Given the description of an element on the screen output the (x, y) to click on. 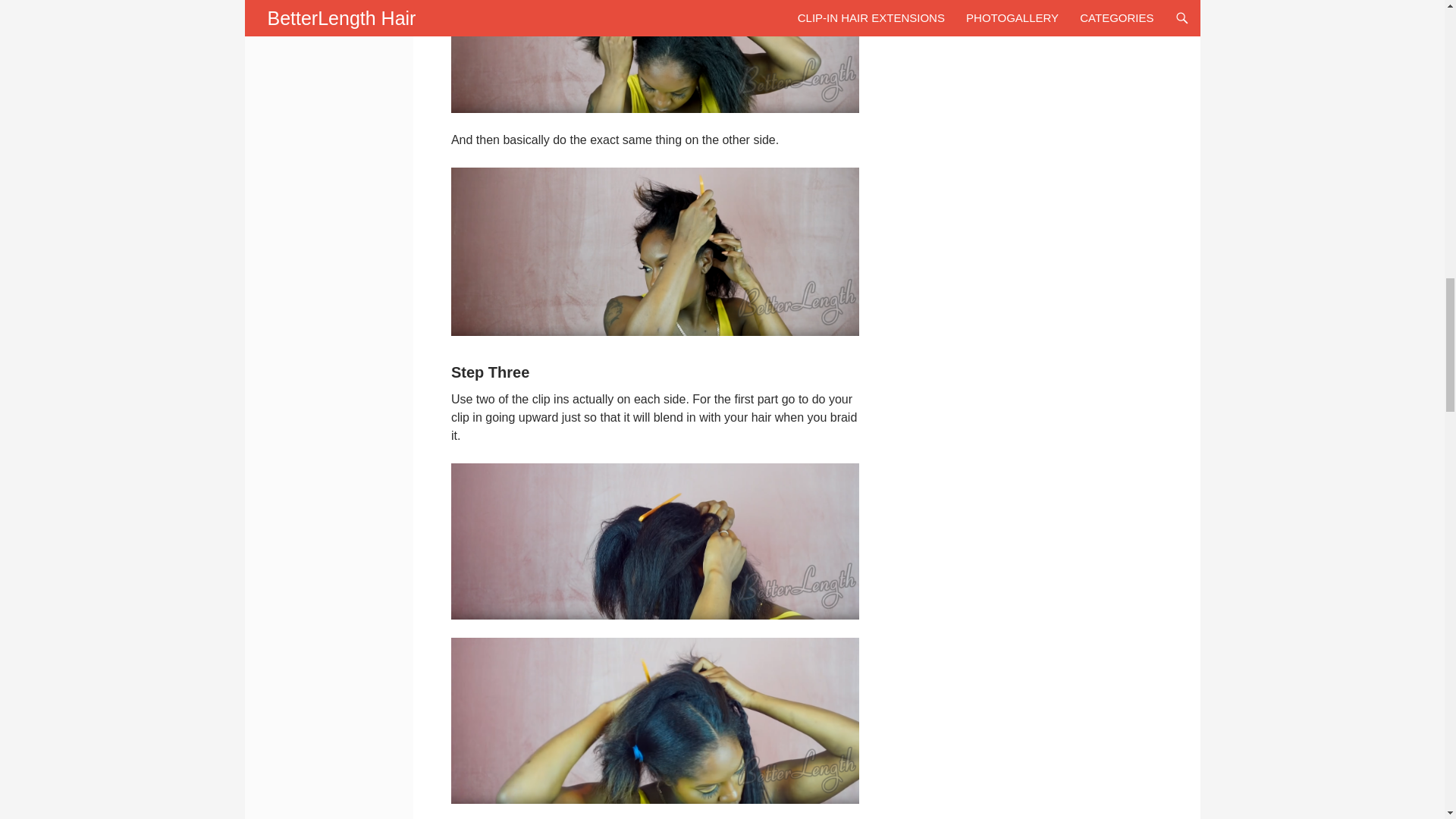
How to Turn 2 Simple Braids Into A Stunning Hairstyle (655, 56)
How to Turn 2 Simple Braids Into A Stunning Hairstyle (655, 251)
How to Turn 2 Simple Braids Into A Stunning Hairstyle (655, 720)
How to Turn 2 Simple Braids Into A Stunning Hairstyle (655, 541)
